Given the description of an element on the screen output the (x, y) to click on. 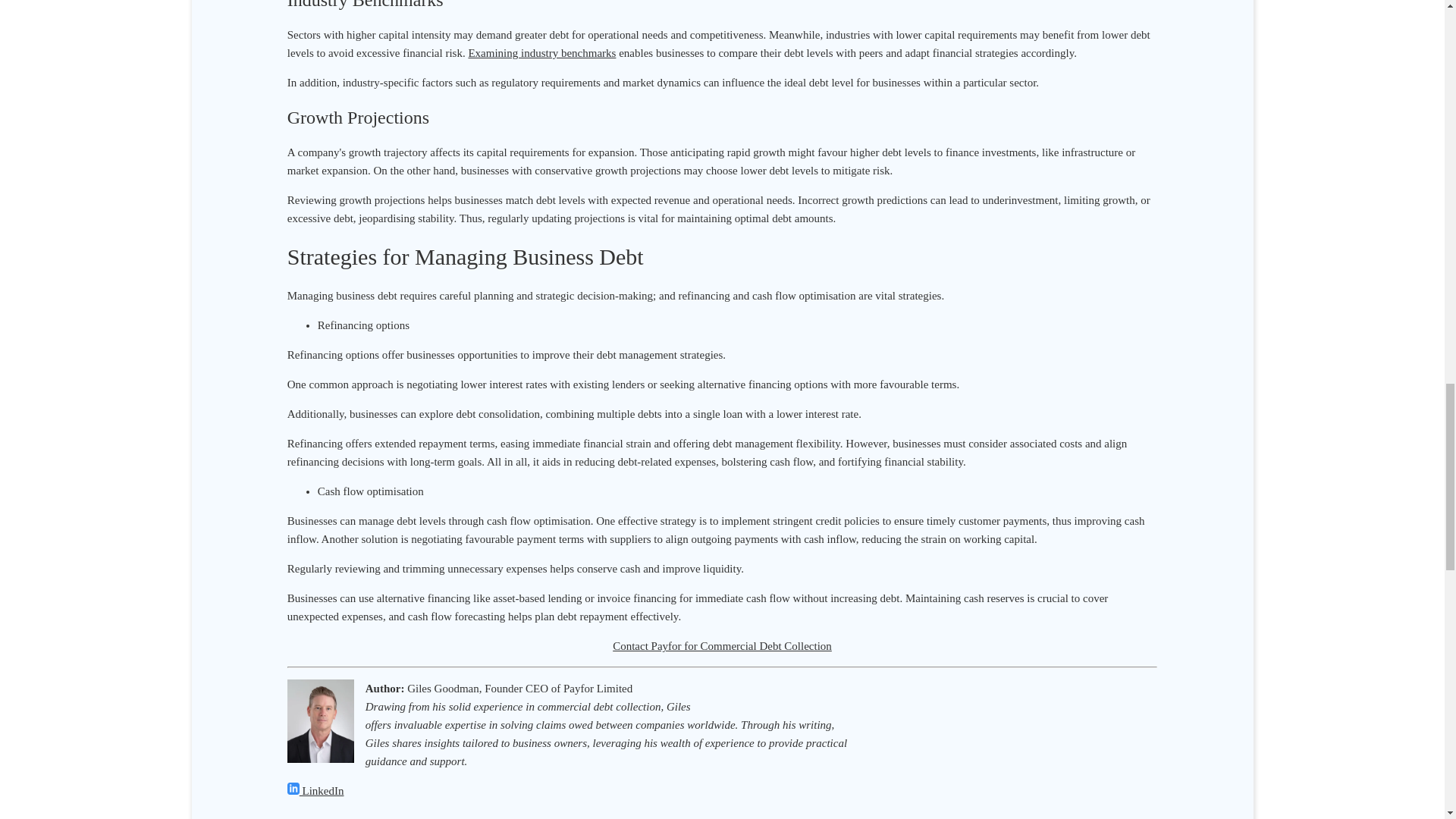
Examining industry benchmarks (541, 52)
 LinkedIn (314, 790)
Contact Payfor for Commercial Debt Collection (721, 645)
